Given the description of an element on the screen output the (x, y) to click on. 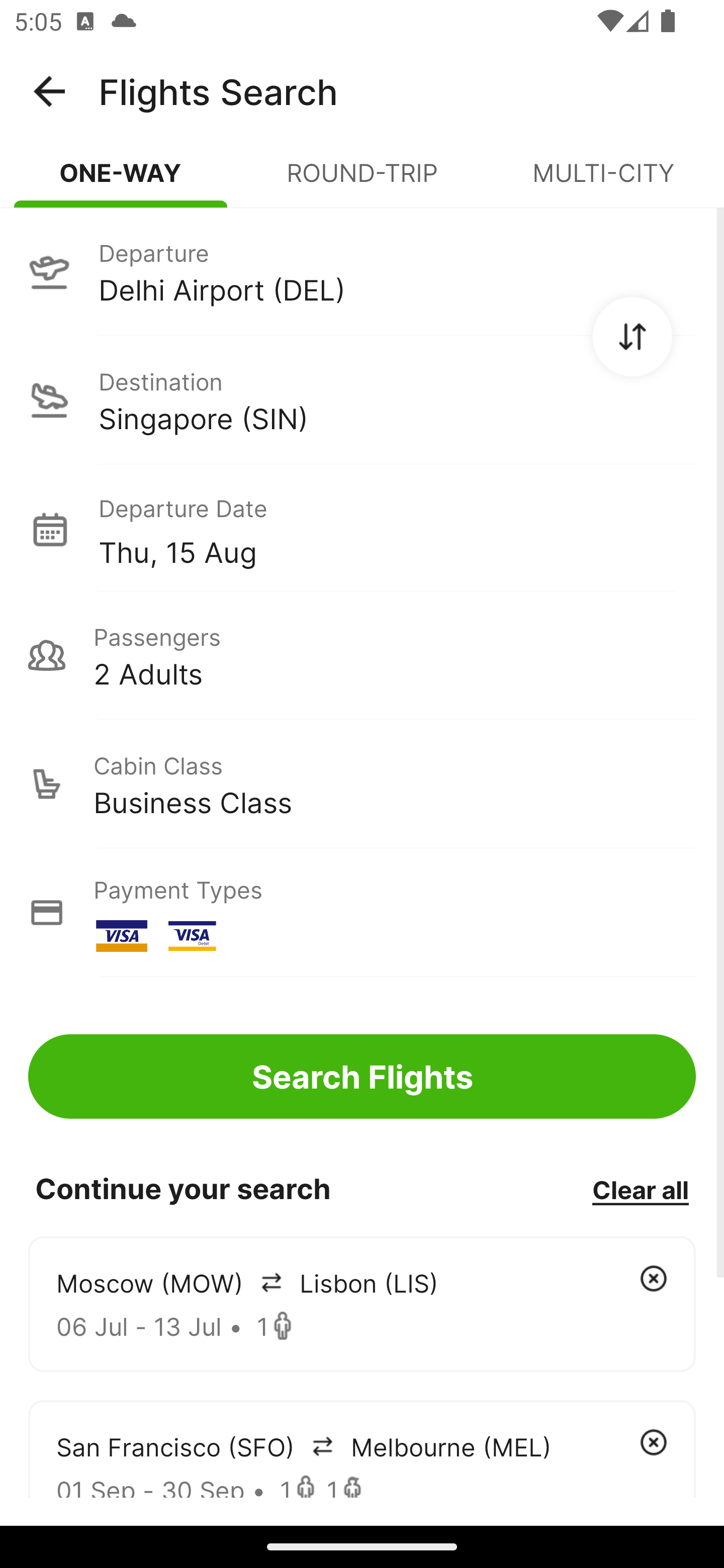
ONE-WAY (120, 180)
ROUND-TRIP (361, 180)
MULTI-CITY (603, 180)
Departure Delhi Airport (DEL) (362, 270)
Destination Singapore (SIN) (362, 400)
Departure Date Thu, 15 Aug (396, 528)
Passengers 2 Adults (362, 655)
Cabin Class Business Class (362, 783)
Payment Types (362, 912)
Search Flights (361, 1075)
Clear all (640, 1189)
